Given the description of an element on the screen output the (x, y) to click on. 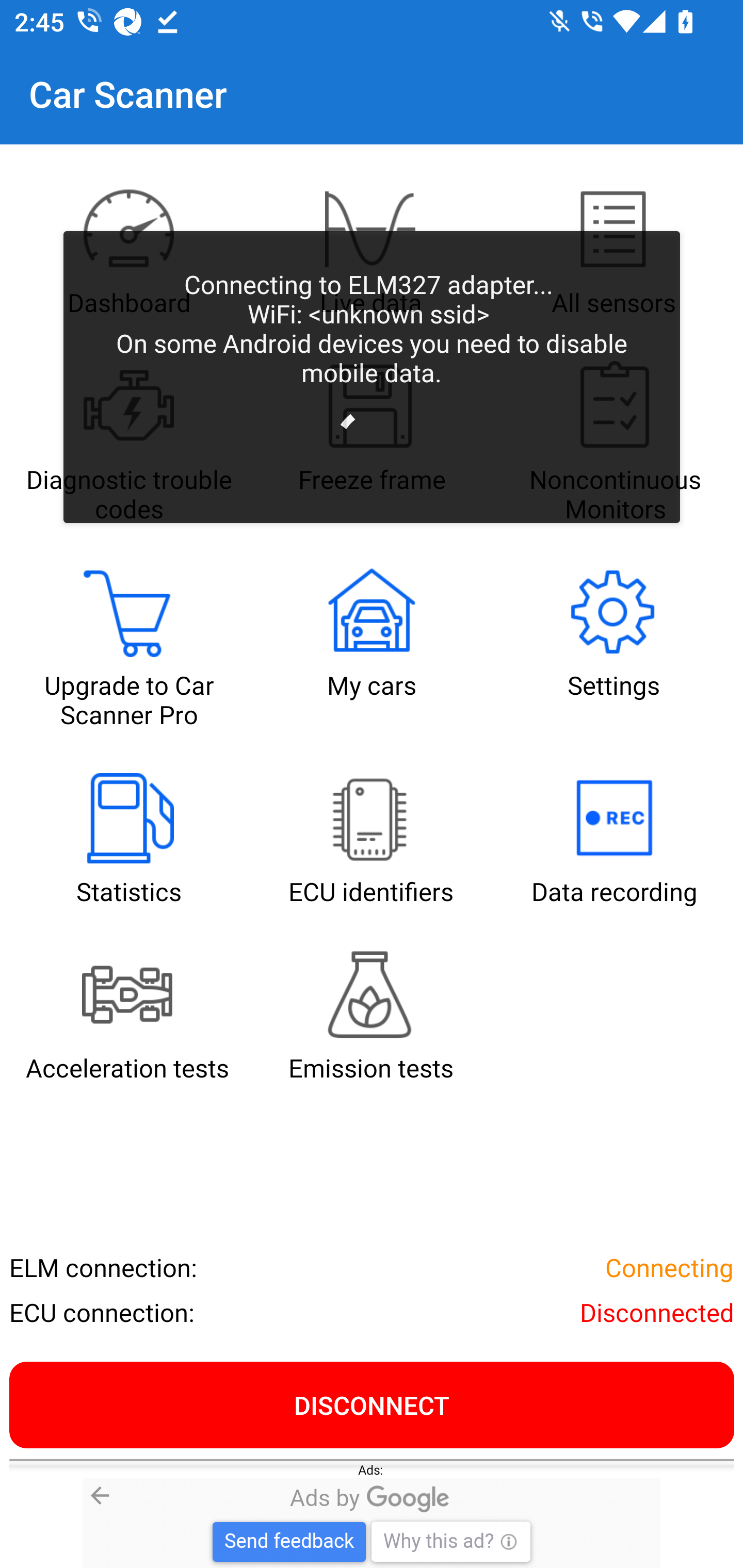
DISCONNECT (371, 1404)
